Given the description of an element on the screen output the (x, y) to click on. 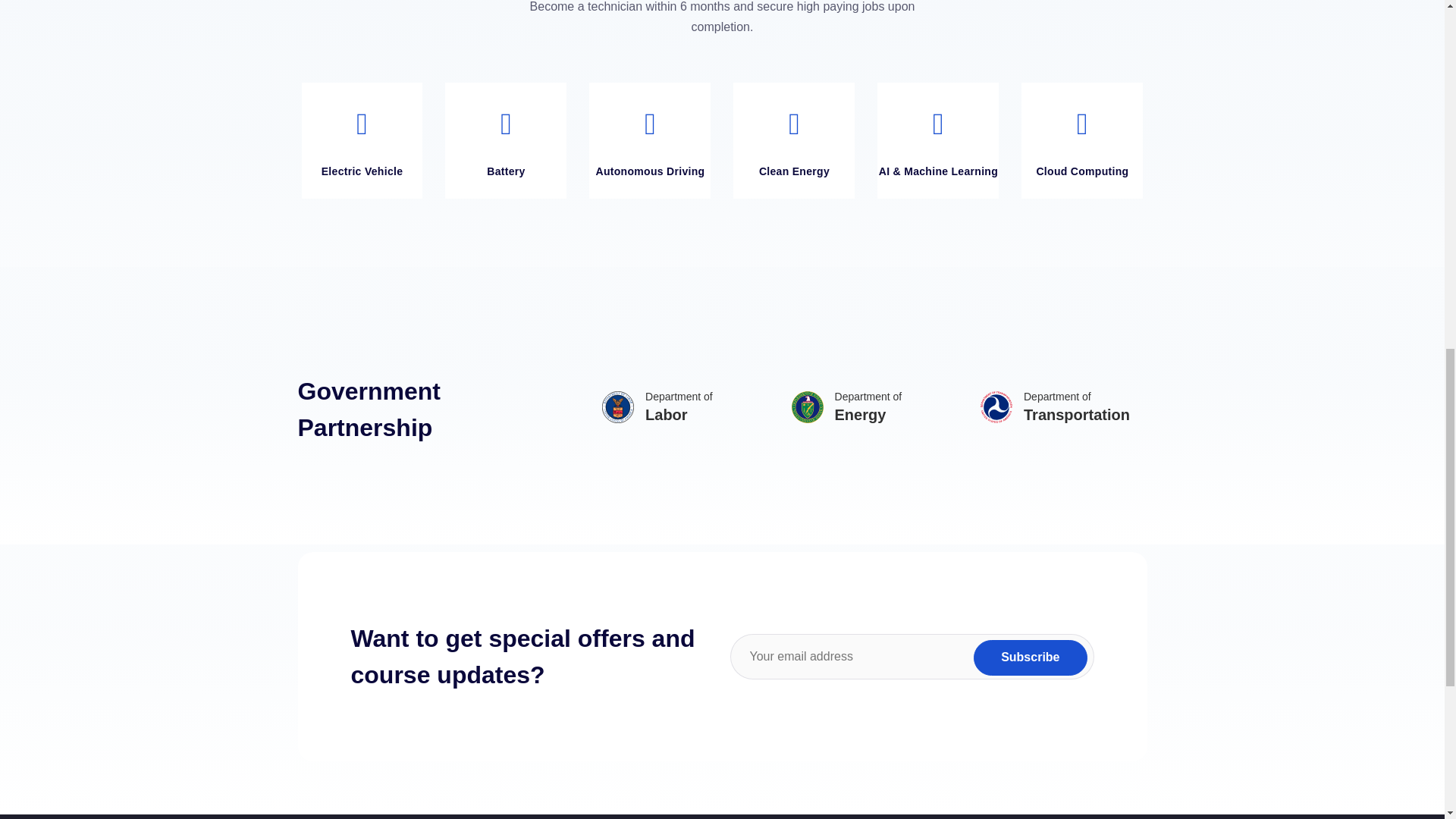
Subscribe (1030, 657)
Subscribe (1030, 657)
